Given the description of an element on the screen output the (x, y) to click on. 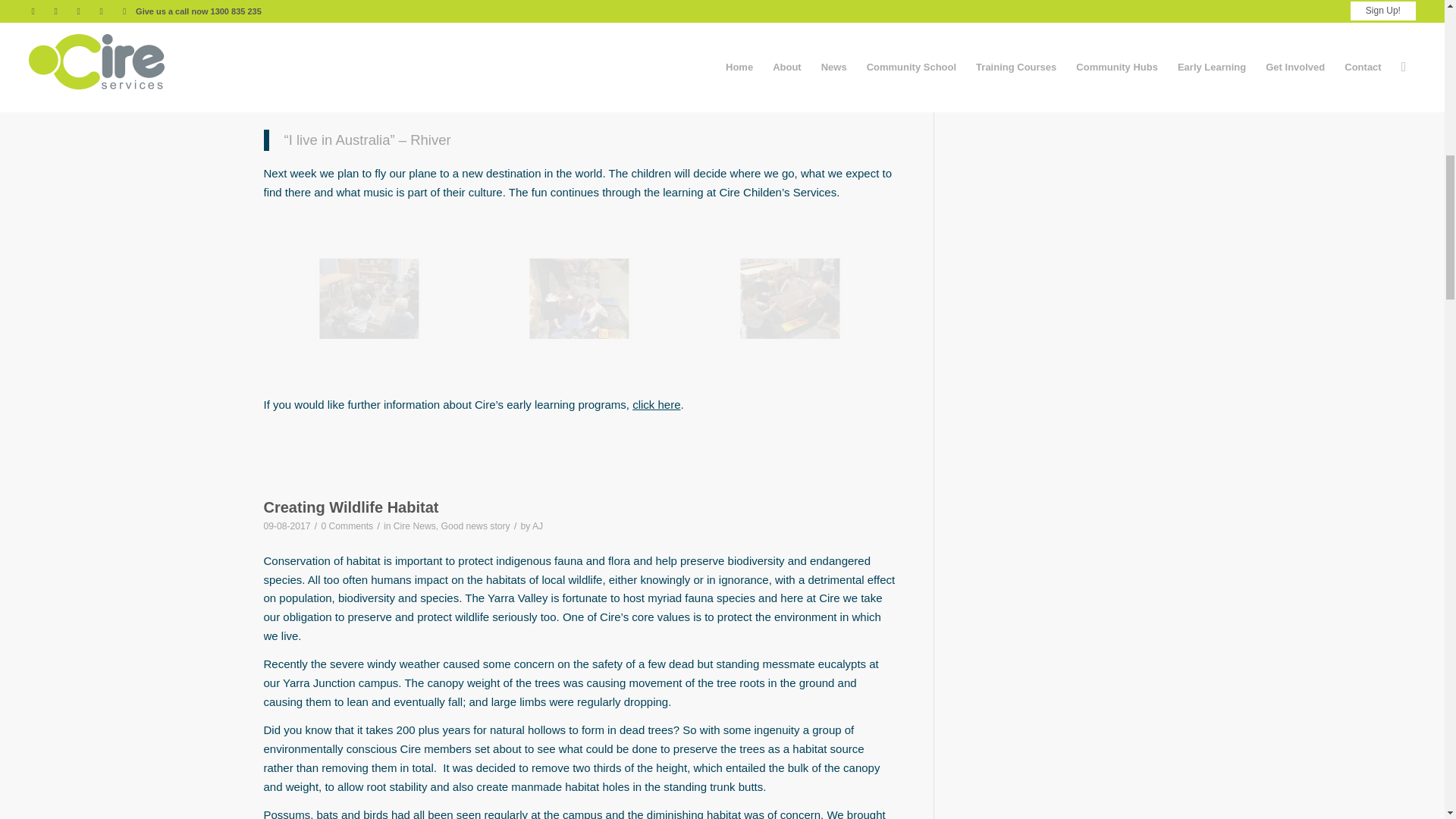
Around-the-world-image-3 (421, 341)
